Given the description of an element on the screen output the (x, y) to click on. 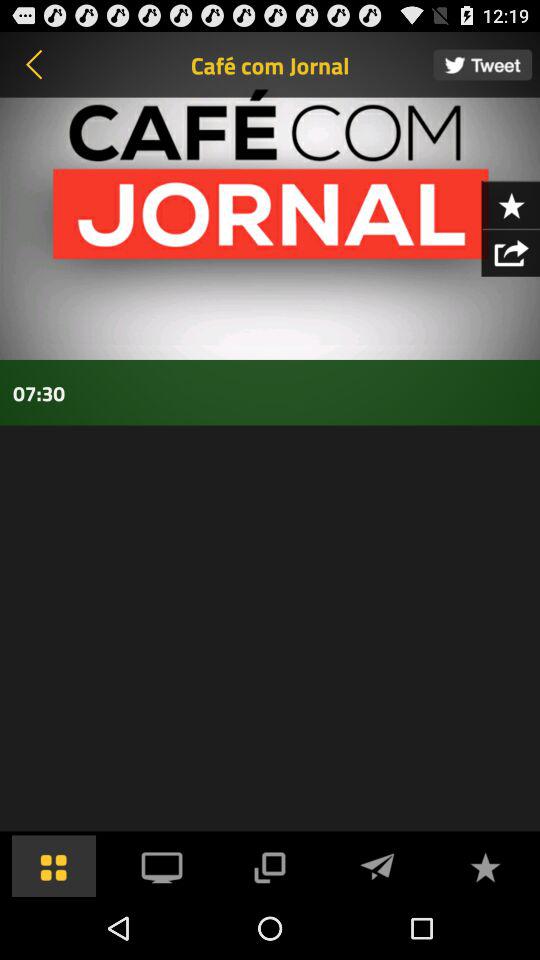
share (510, 252)
